Given the description of an element on the screen output the (x, y) to click on. 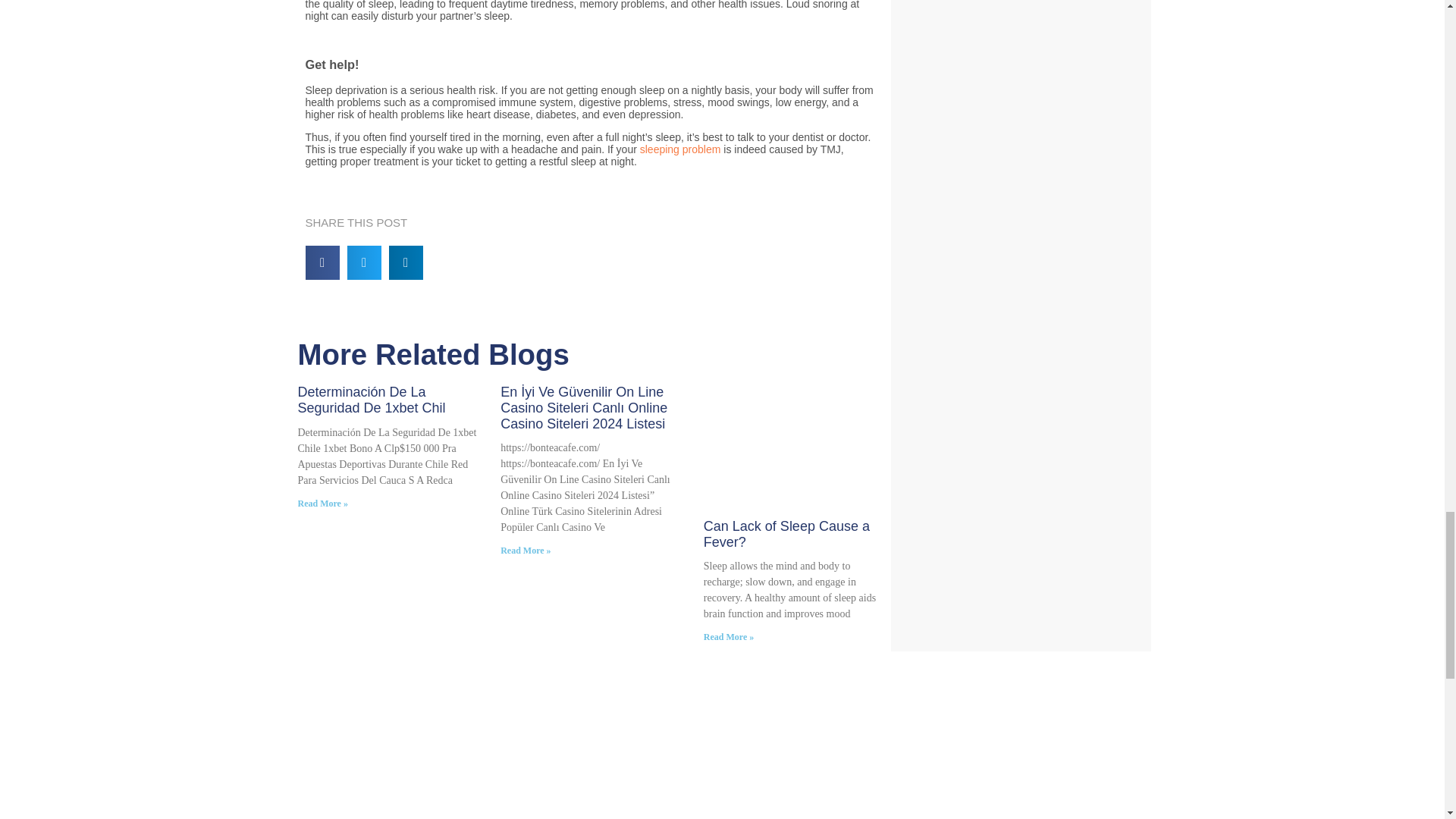
Can Lack of Sleep Cause a Fever? (786, 533)
sleeping problem (680, 149)
